Given the description of an element on the screen output the (x, y) to click on. 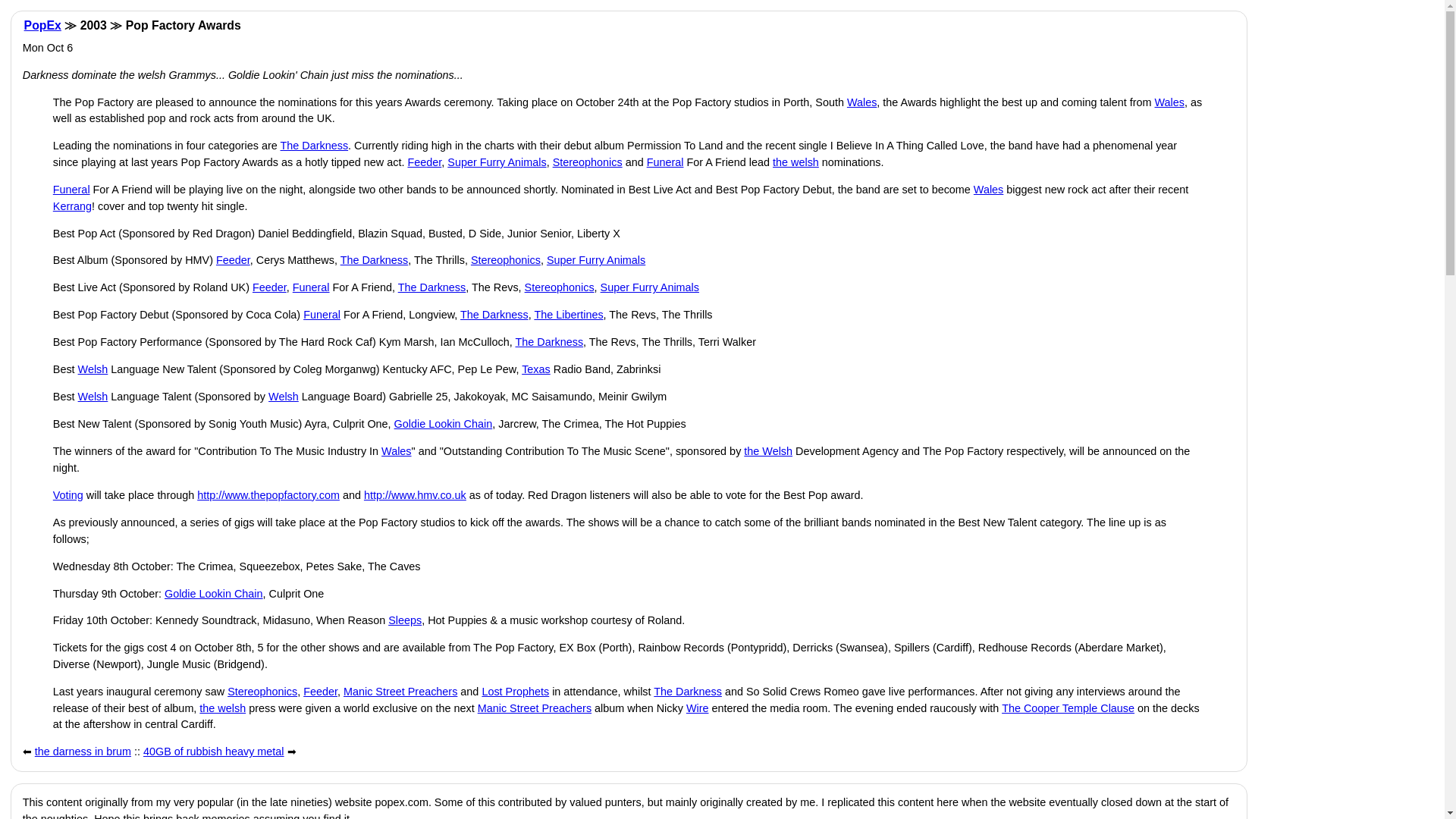
Feeder (424, 162)
Kerrang (71, 205)
Super Furry Animals (496, 162)
Texas (535, 369)
Funeral (665, 162)
Funeral (311, 287)
Sleeps (405, 620)
Funeral (321, 314)
Goldie Lookin Chain (443, 423)
The Darkness (494, 314)
Funeral (71, 189)
Stereophonics (505, 259)
Manic Street Preachers (400, 691)
Feeder (268, 287)
Welsh (92, 396)
